Given the description of an element on the screen output the (x, y) to click on. 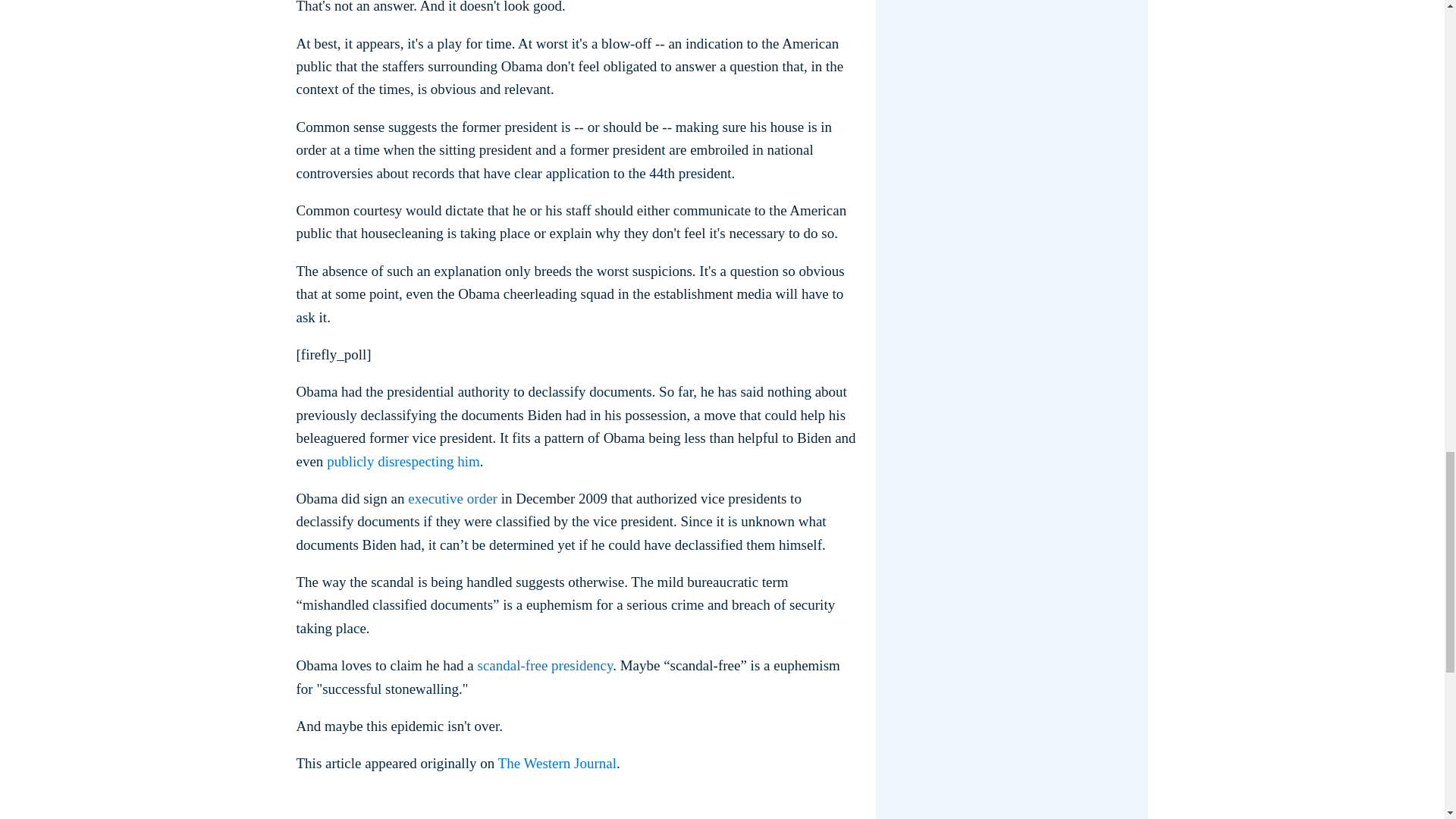
scandal-free presidency (543, 665)
executive order (452, 498)
publicly disrespecting him (403, 461)
The Western Journal (556, 763)
